Given the description of an element on the screen output the (x, y) to click on. 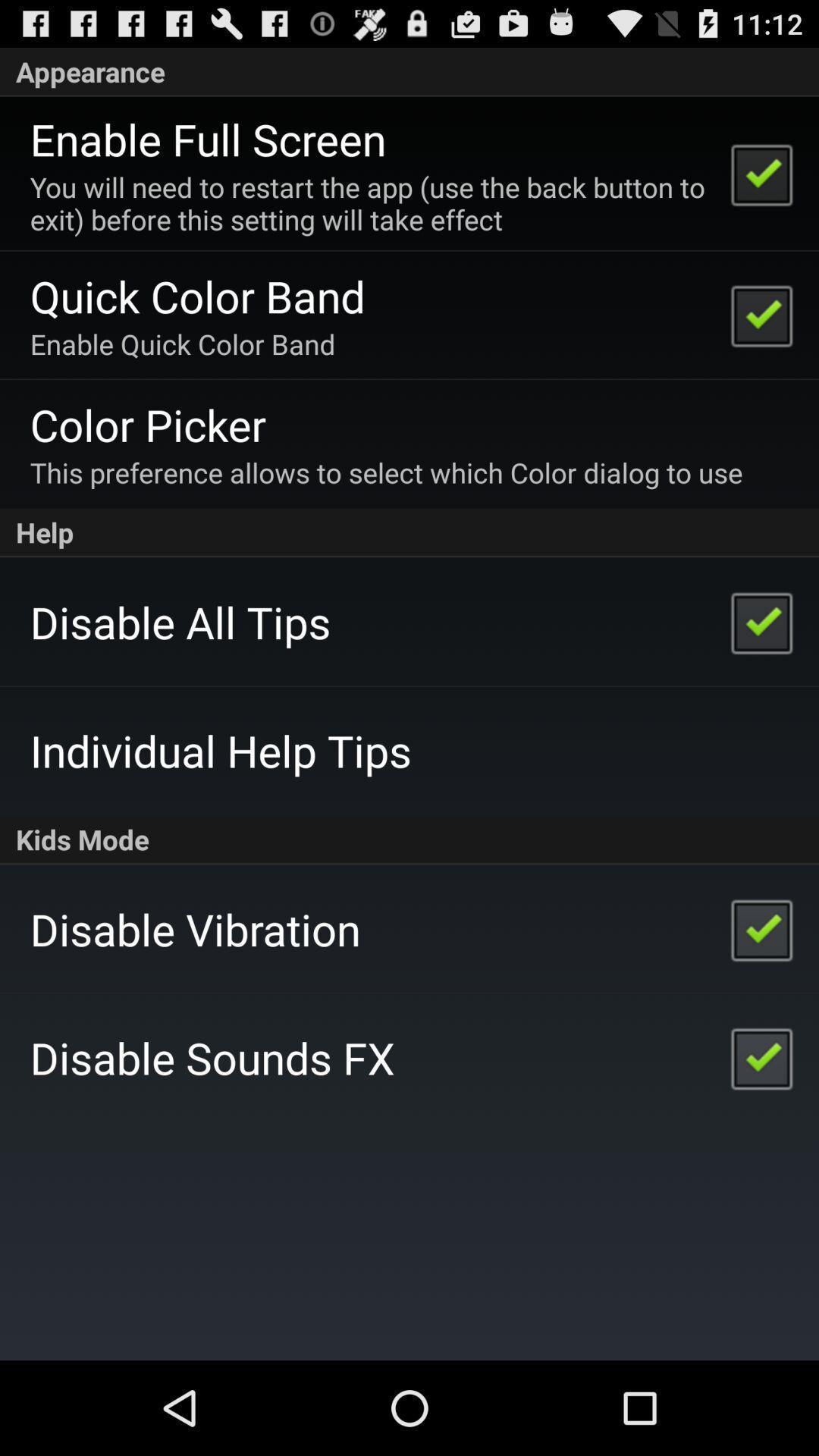
tap the disable vibration item (195, 928)
